Given the description of an element on the screen output the (x, y) to click on. 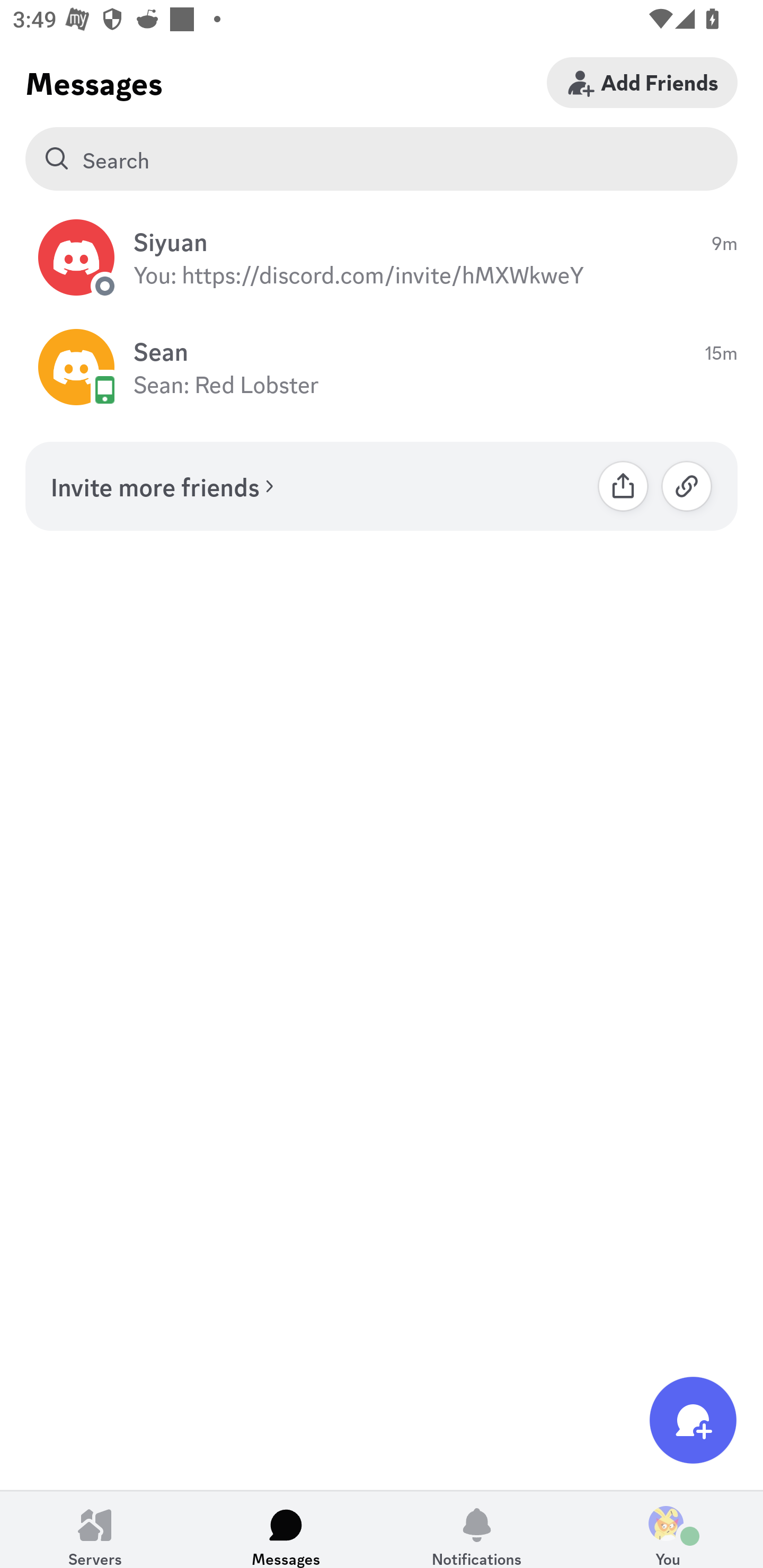
Add Friends (642, 82)
Search (381, 159)
Sean (direct message) Sean 15m Sean: Red Lobster (381, 367)
Share Link (622, 485)
Copy Link (686, 485)
New Message (692, 1419)
Servers (95, 1529)
Messages (285, 1529)
Notifications (476, 1529)
You (667, 1529)
